Given the description of an element on the screen output the (x, y) to click on. 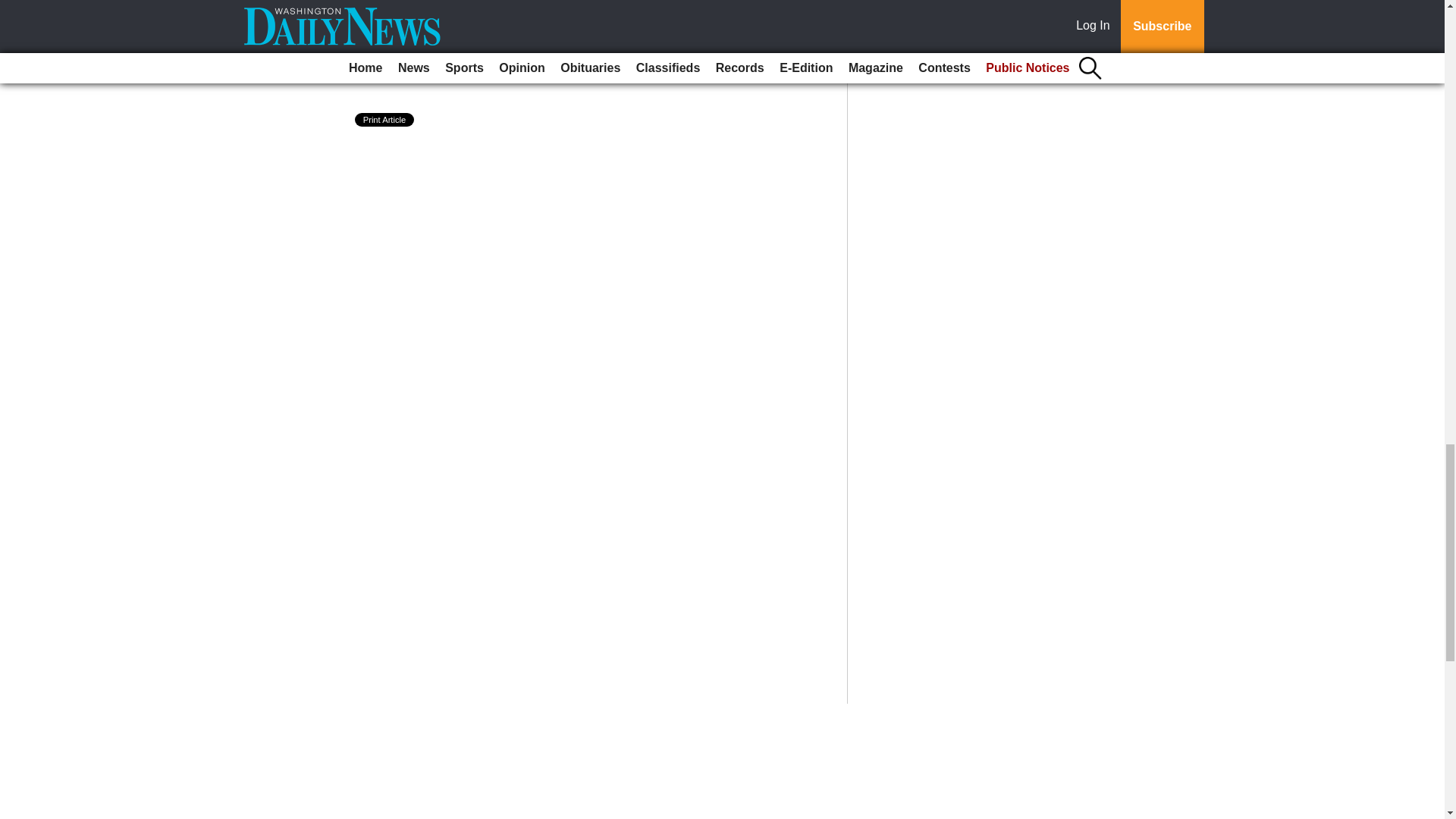
Print Article (384, 119)
Deacon Charlie B. Reddick Sr. (483, 18)
Elijah S. Alligood Jr. (452, 70)
Deacon Charlie B. Reddick Sr. (483, 18)
Elijah S. Alligood Jr. (452, 70)
